Given the description of an element on the screen output the (x, y) to click on. 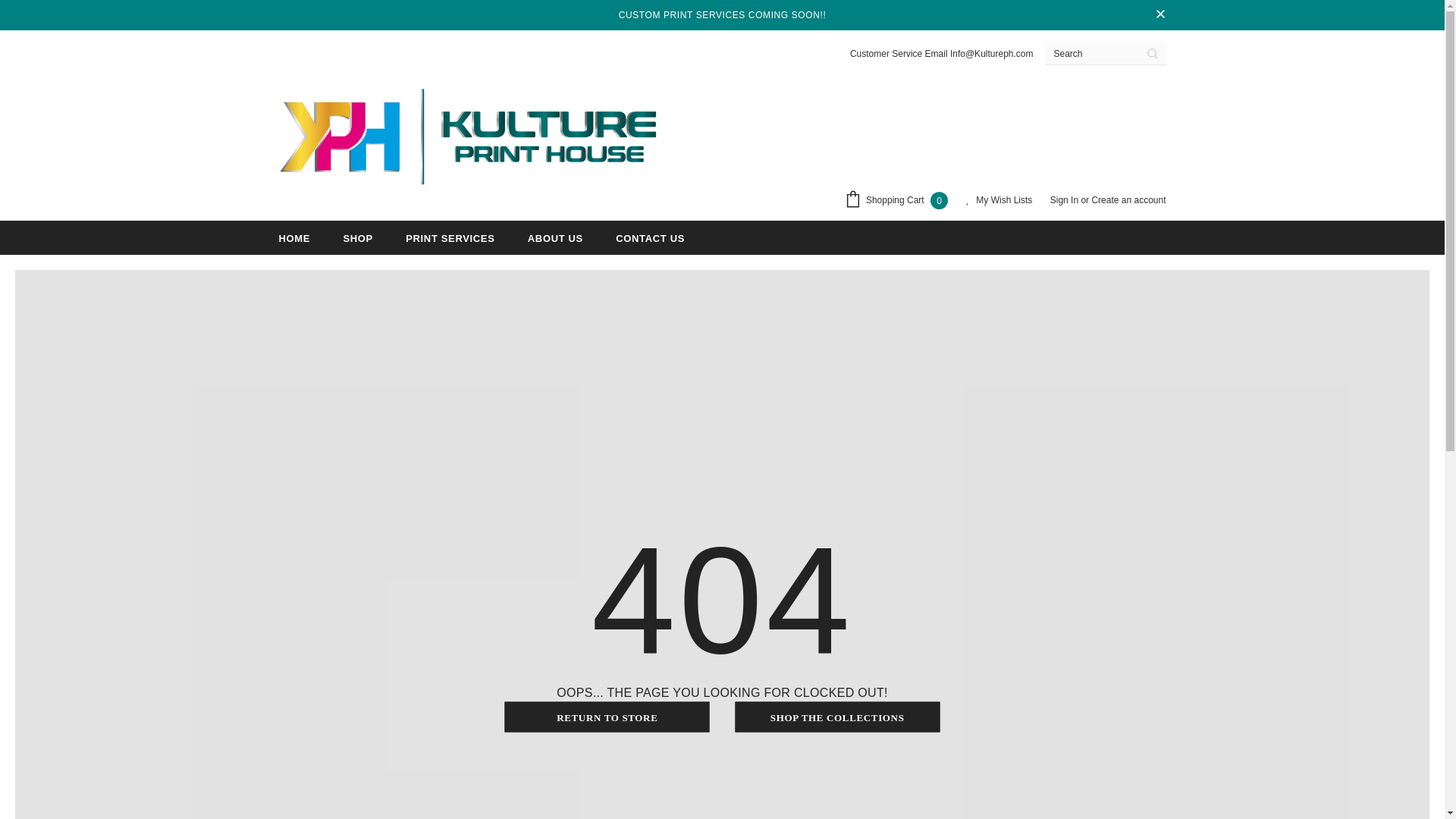
Shopping Cart 0 (899, 201)
PRINT SERVICES (450, 237)
close (1160, 14)
Create an account (1128, 199)
Sign In (1065, 199)
My Wish Lists (999, 200)
HOME (295, 237)
